Given the description of an element on the screen output the (x, y) to click on. 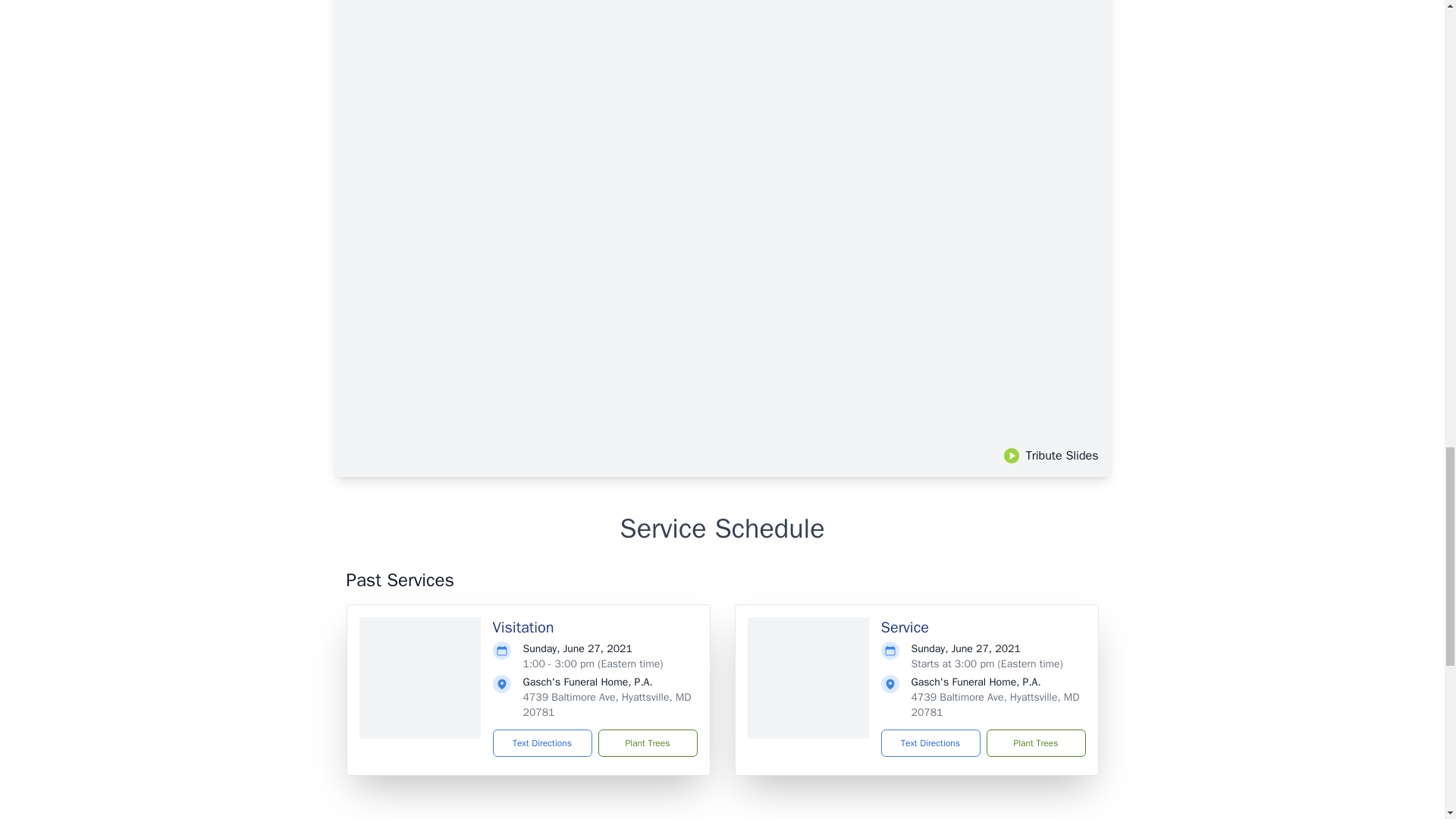
Plant Trees (1034, 742)
4739 Baltimore Ave, Hyattsville, MD 20781 (995, 705)
Text Directions (929, 742)
4739 Baltimore Ave, Hyattsville, MD 20781 (606, 705)
Text Directions (542, 742)
Plant Trees (646, 742)
